Given the description of an element on the screen output the (x, y) to click on. 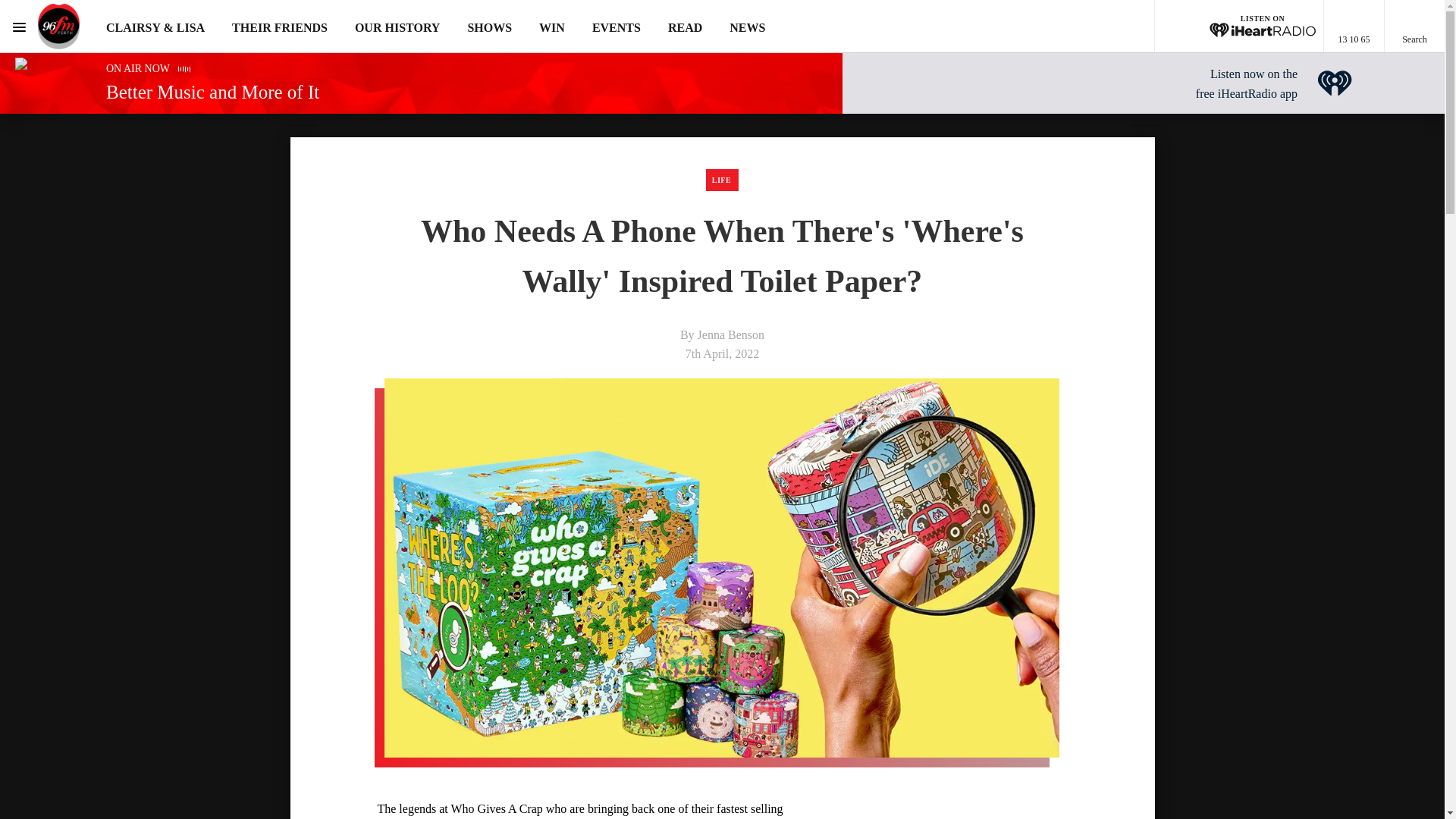
THEIR FRIENDS (279, 26)
iHeart (1334, 82)
LISTEN ON (1238, 26)
13 10 65 (1353, 26)
EVENTS (616, 26)
OUR HISTORY (398, 26)
